Given the description of an element on the screen output the (x, y) to click on. 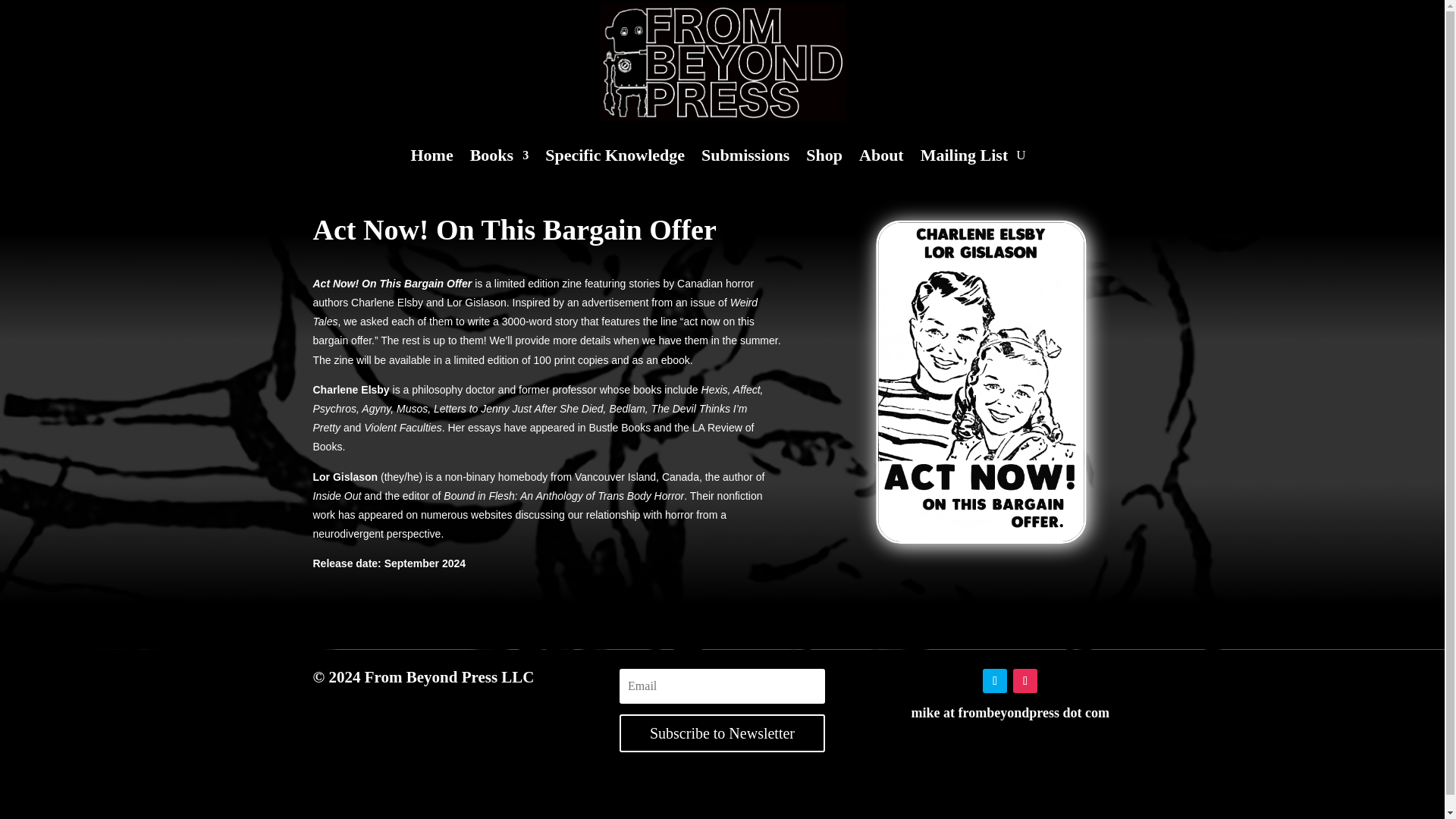
Submissions (745, 158)
Shop (824, 158)
from beyond press logo white on black (721, 62)
Mailing List (964, 158)
Home (431, 158)
Follow on Twitter (994, 680)
Books (499, 158)
About (881, 158)
Subscribe to Newsletter (722, 733)
Specific Knowledge (614, 158)
